Given the description of an element on the screen output the (x, y) to click on. 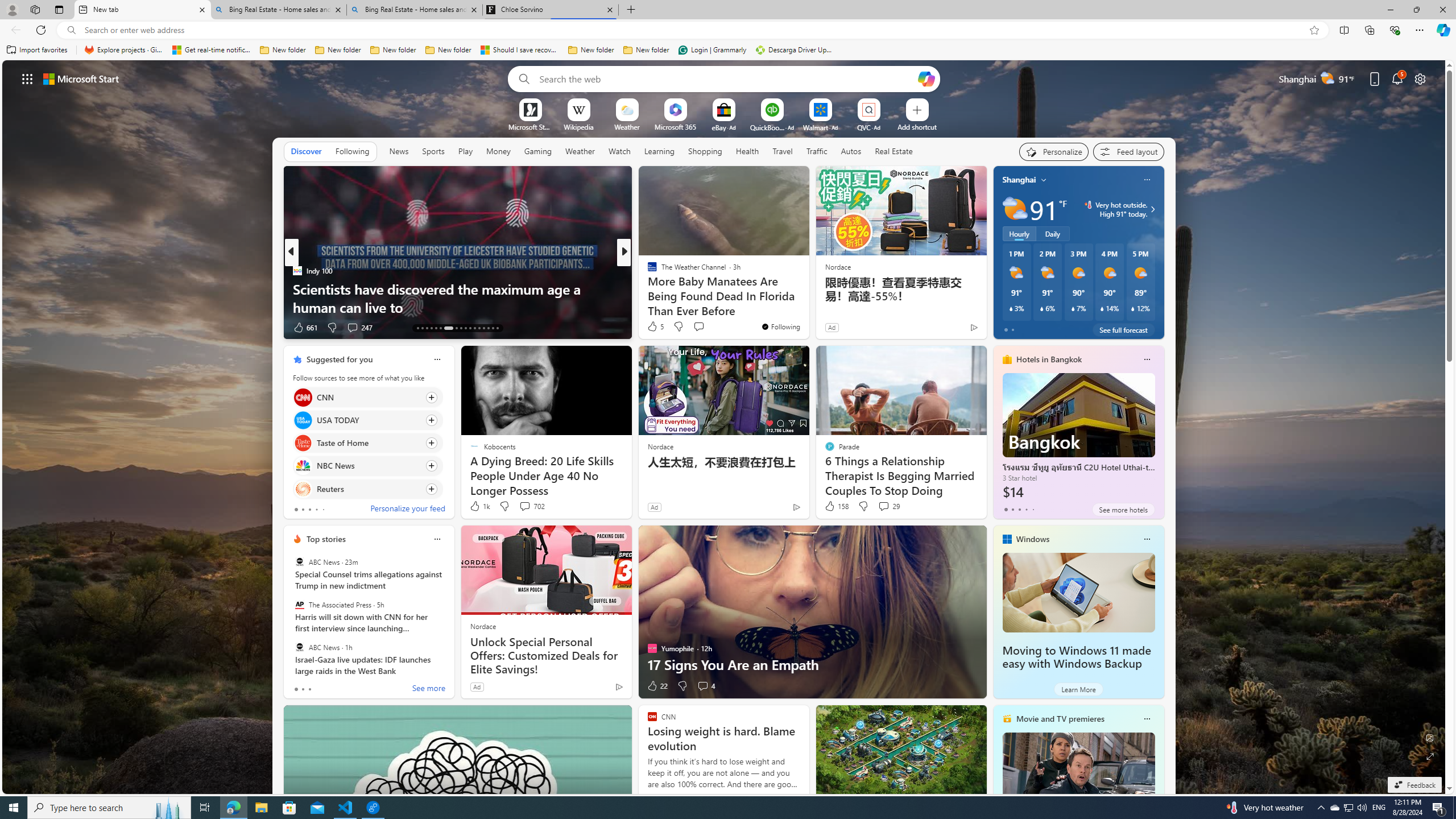
tab-3 (1025, 509)
Shopping (705, 151)
22 Like (657, 685)
Reuters (302, 488)
Partly sunny (1014, 208)
SlashGear (647, 270)
AutomationID: tab-16 (431, 328)
Click to follow source Taste of Home (367, 442)
Learn More (1078, 689)
